Given the description of an element on the screen output the (x, y) to click on. 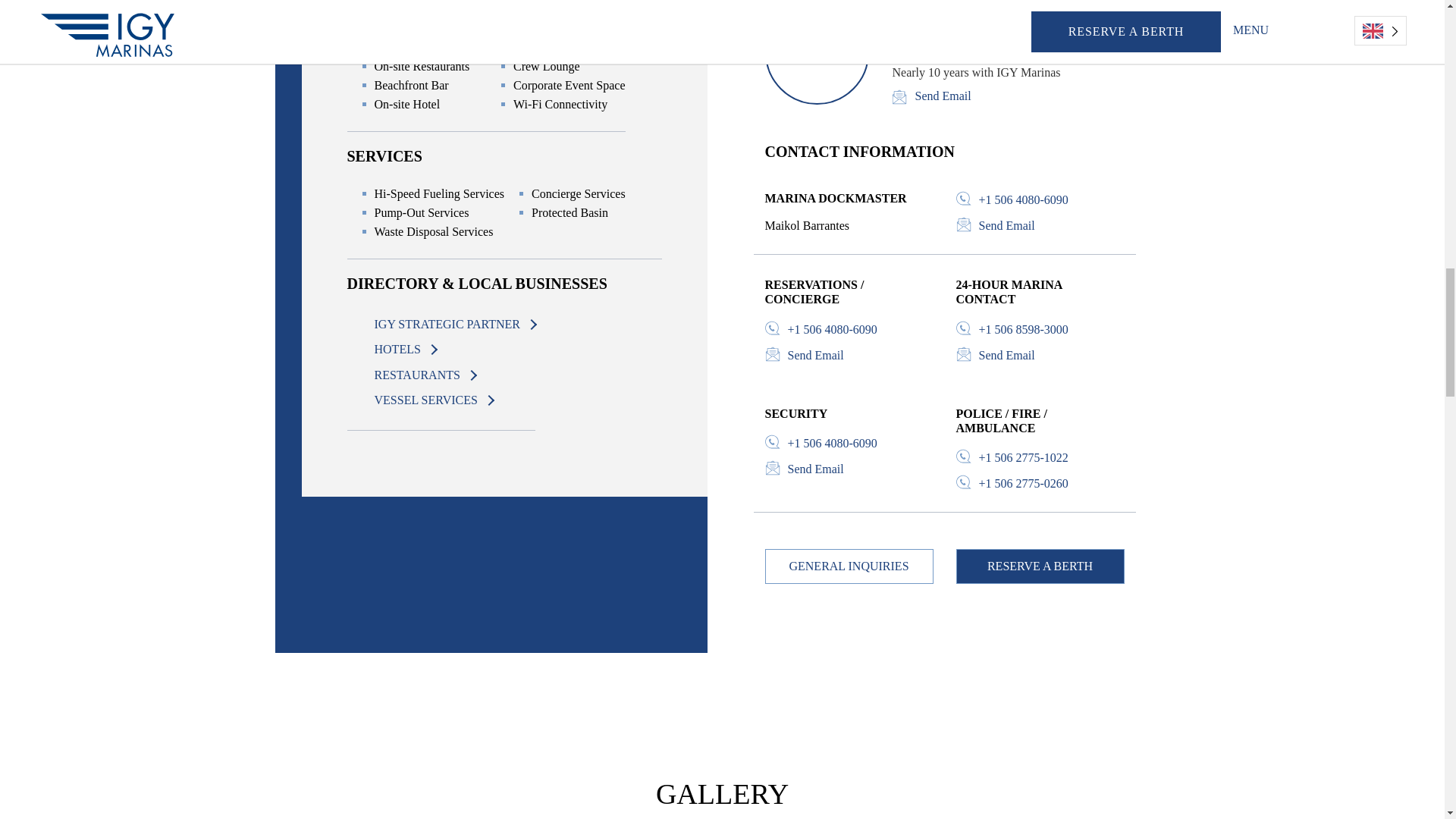
Sea AI. (943, 663)
